Given the description of an element on the screen output the (x, y) to click on. 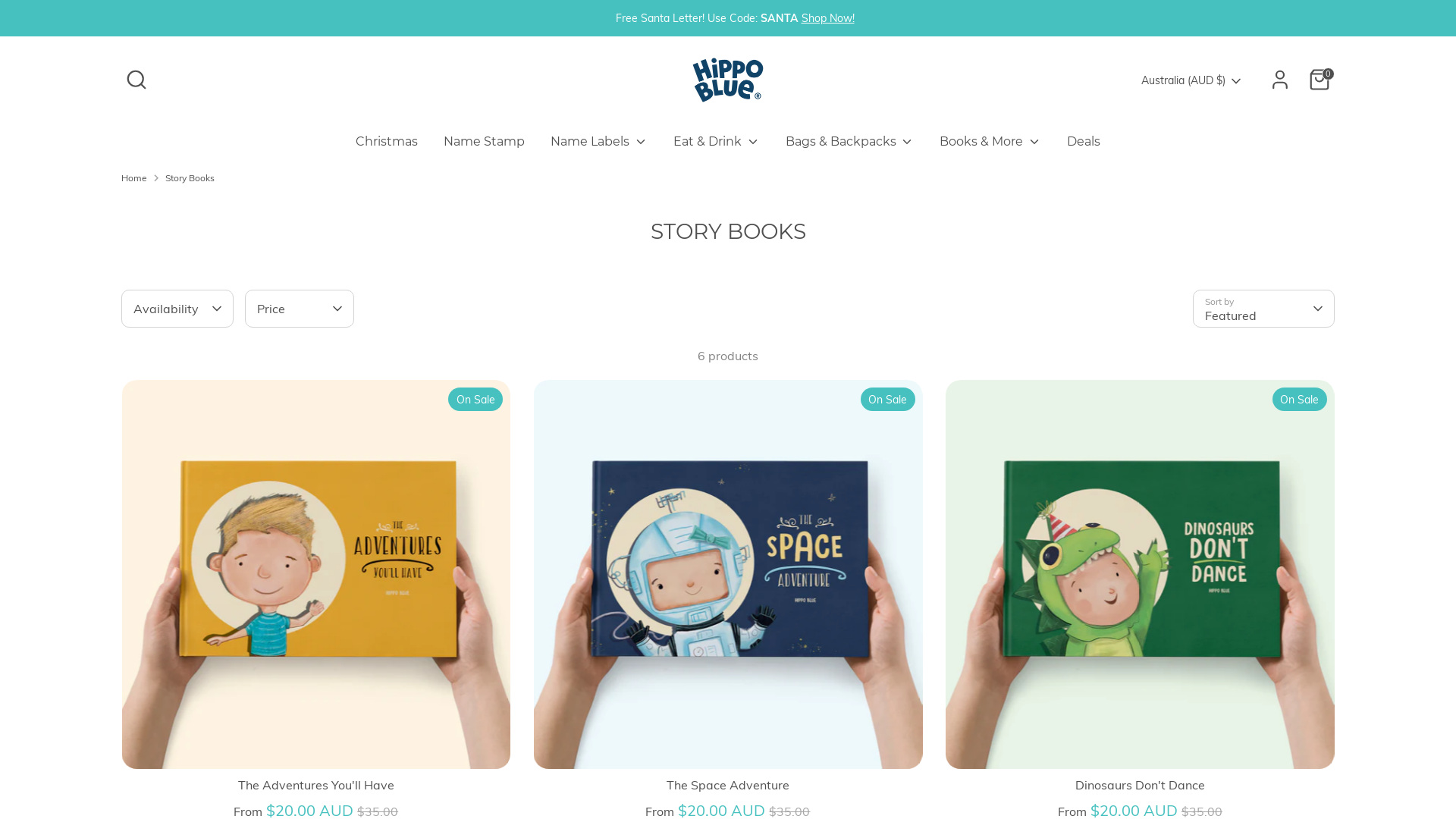
Story Books Element type: text (189, 178)
Australia (AUD $) Element type: text (1192, 80)
Deals Element type: text (1083, 145)
Christmas Element type: text (386, 145)
Eat & Drink Element type: text (716, 145)
Books & More Element type: text (990, 145)
Dinosaurs Don't Dance Element type: text (1139, 784)
Name Stamp Element type: text (484, 145)
The Adventures You'll Have Element type: text (316, 784)
Search Element type: text (136, 79)
The Space Adventure Element type: text (727, 784)
Shop Now! Element type: text (826, 18)
0 Element type: text (1319, 79)
Home Element type: text (134, 178)
Bags & Backpacks Element type: text (849, 145)
Name Labels Element type: text (598, 145)
